Given the description of an element on the screen output the (x, y) to click on. 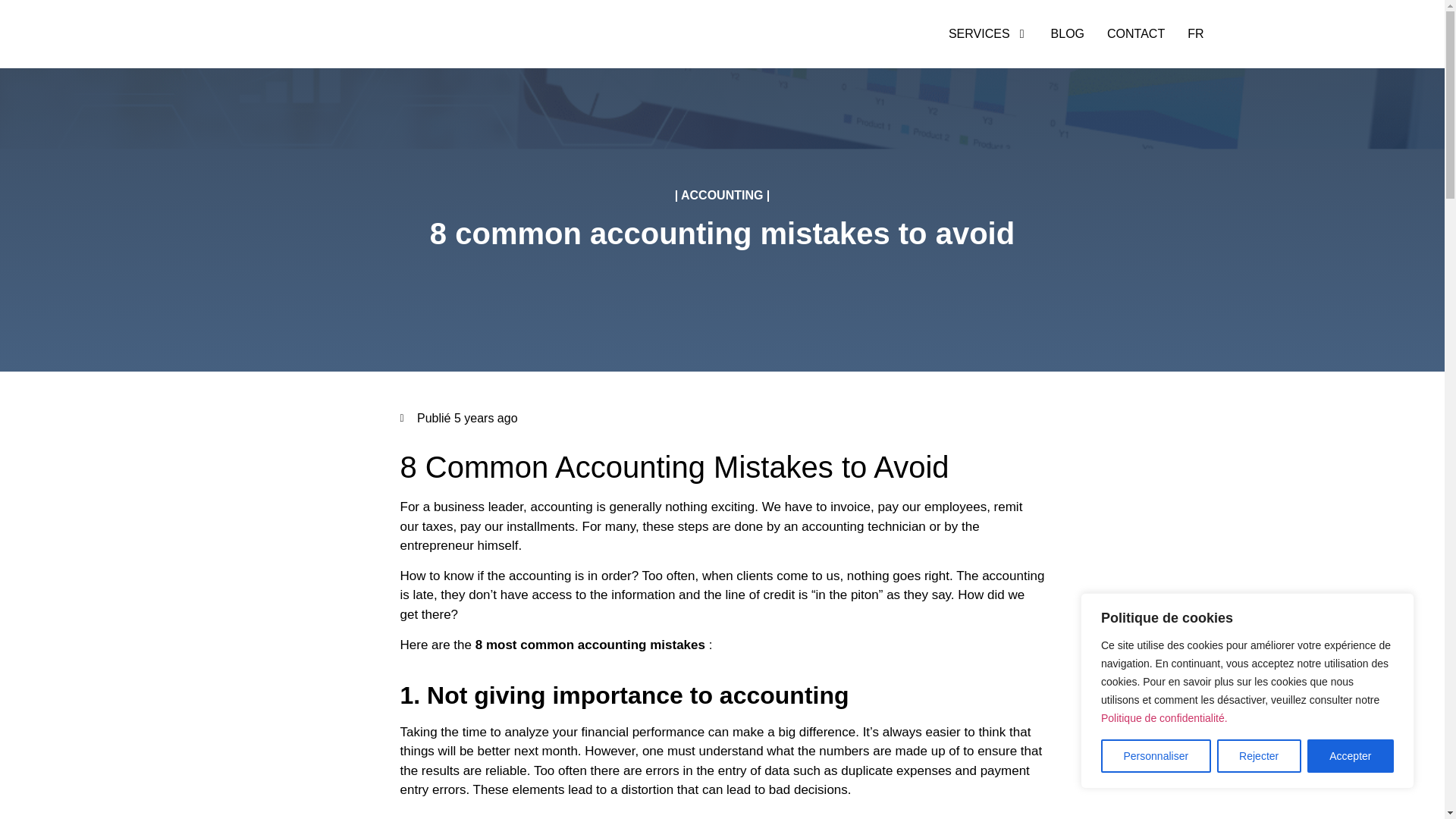
Rejecter (1259, 756)
Accepter (1350, 756)
Personnaliser (1155, 756)
SERVICES (979, 34)
